Given the description of an element on the screen output the (x, y) to click on. 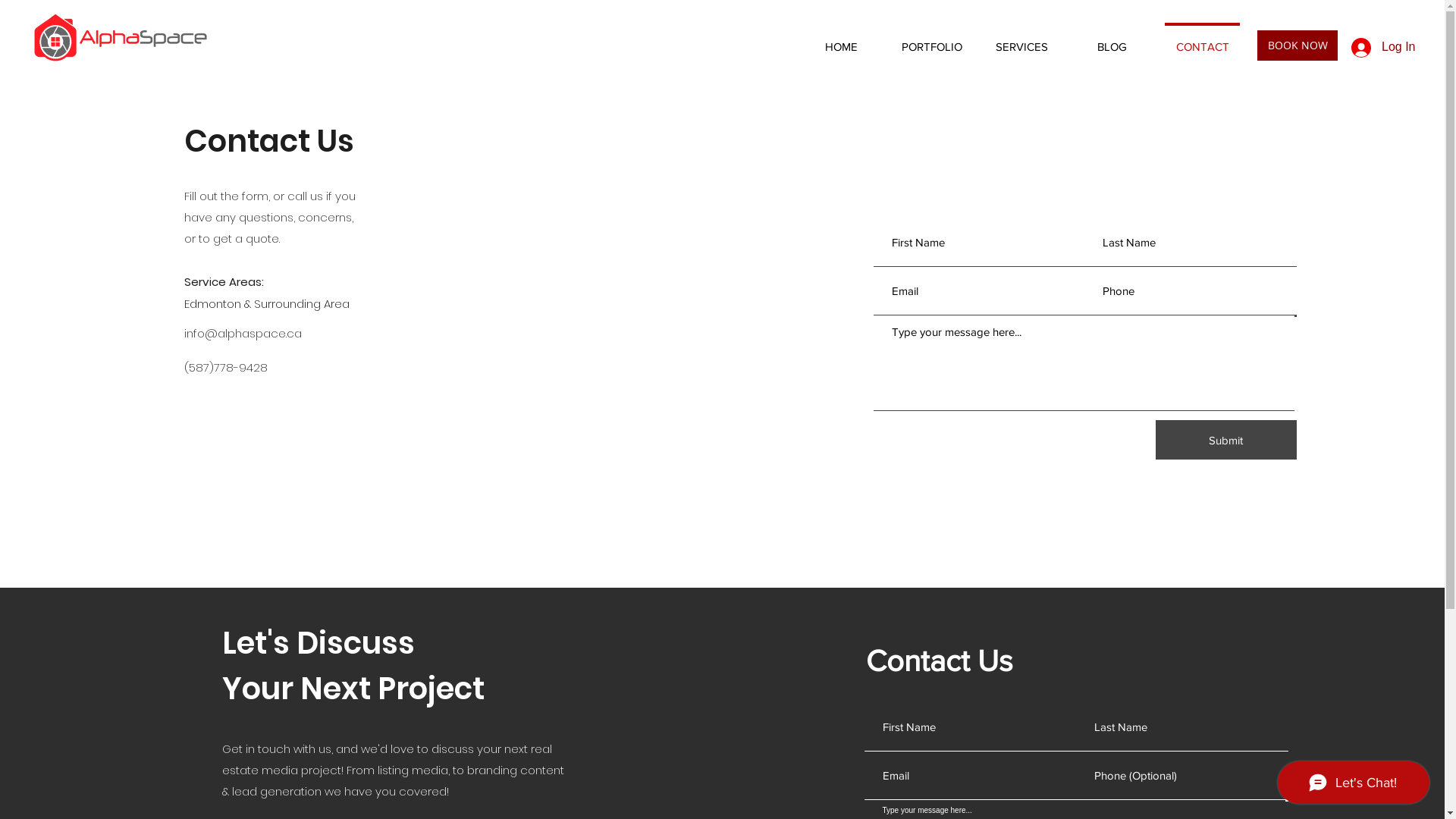
BLOG Element type: text (1111, 39)
SERVICES Element type: text (1021, 39)
BOOK NOW Element type: text (1297, 45)
Log In Element type: text (1380, 47)
CONTACT Element type: text (1202, 39)
HOME Element type: text (840, 39)
PORTFOLIO Element type: text (931, 39)
info@alphaspace.ca Element type: text (242, 333)
Submit Element type: text (1225, 439)
